Given the description of an element on the screen output the (x, y) to click on. 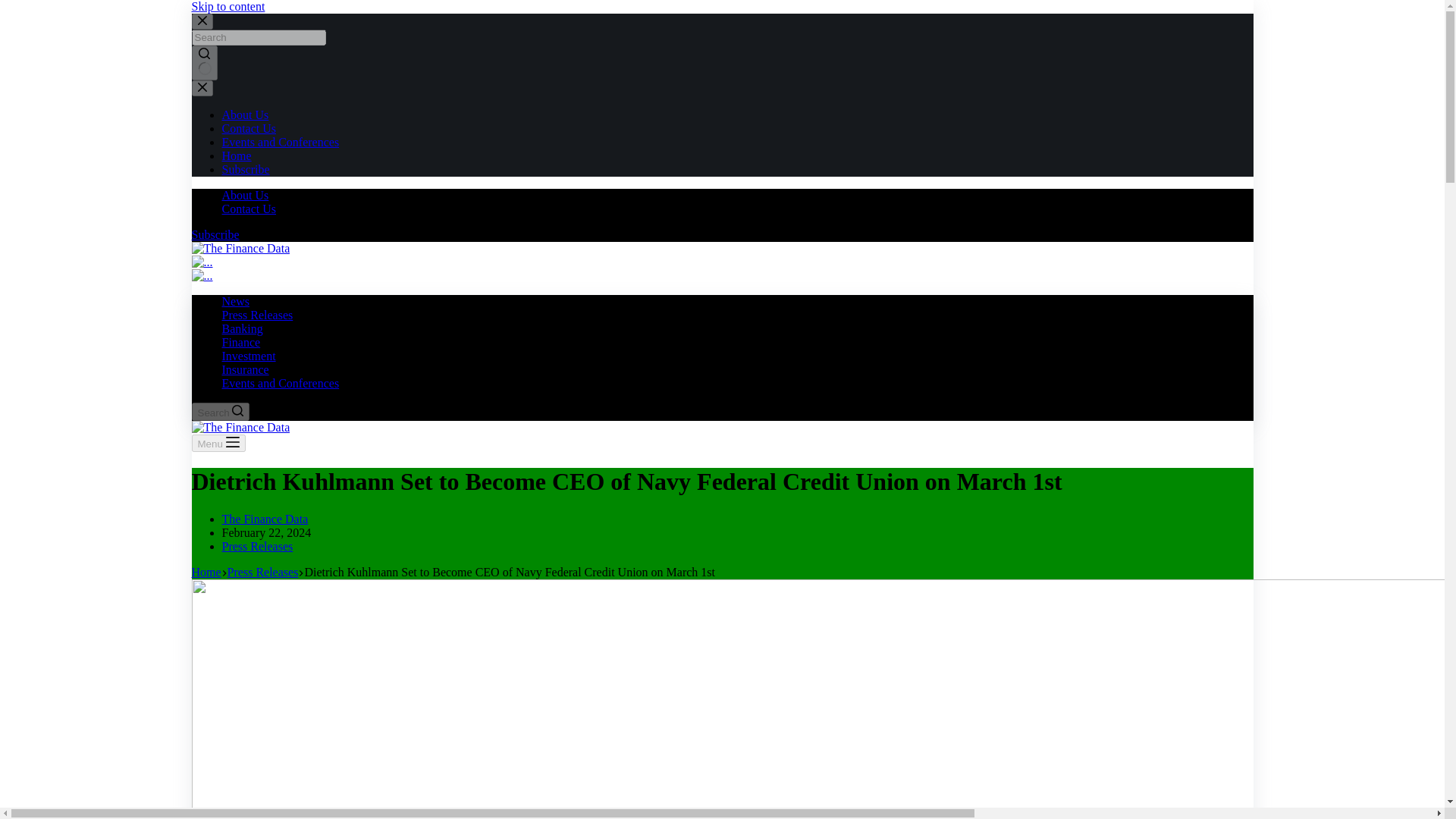
Search for... (257, 37)
News (234, 300)
Press Releases (262, 571)
Press Releases (256, 314)
Subscribe (245, 169)
Subscribe (214, 234)
Posts by The Finance Data (264, 518)
The Finance Data (264, 518)
Investment (248, 355)
Search (219, 411)
